Given the description of an element on the screen output the (x, y) to click on. 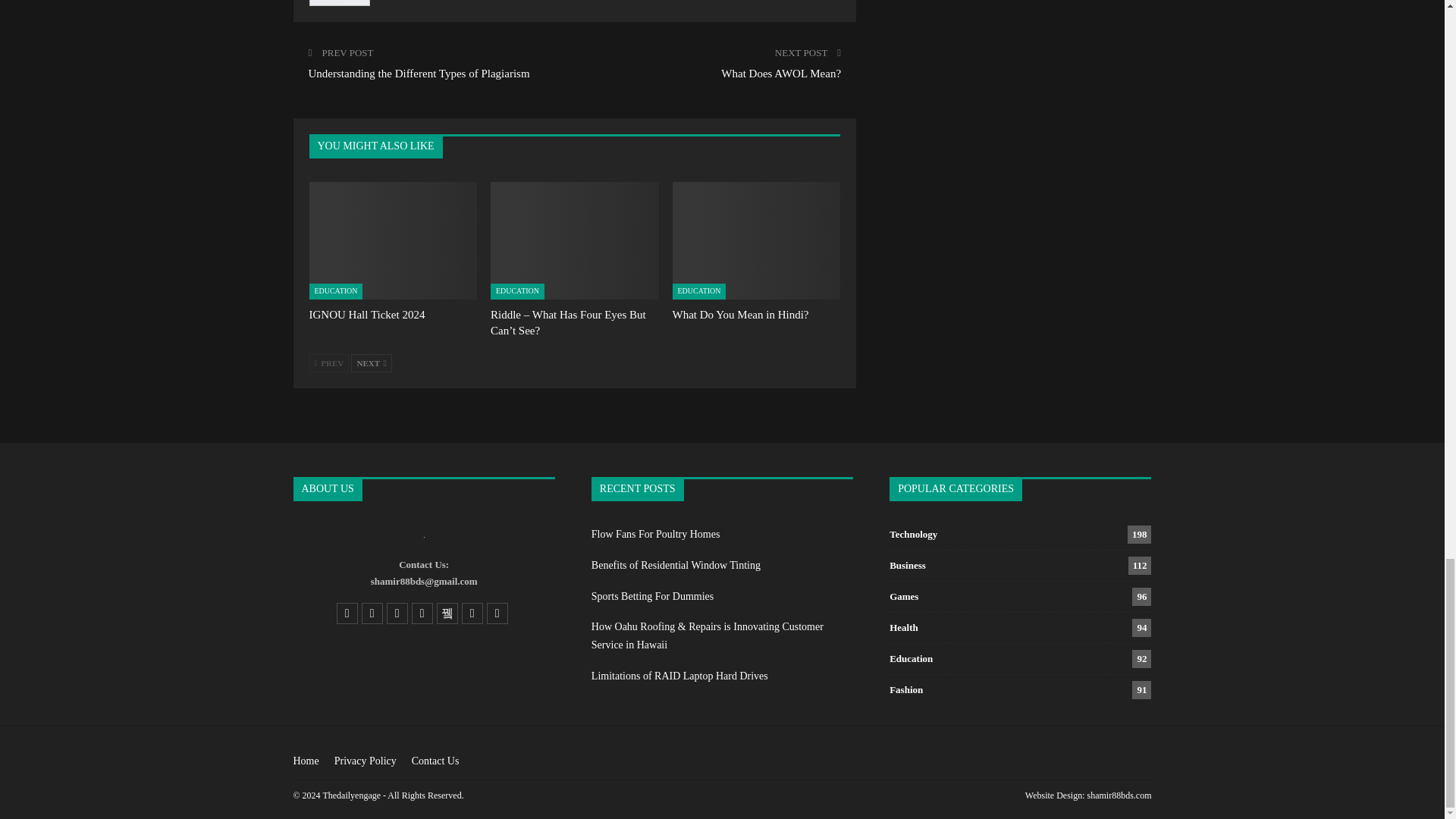
Next (370, 362)
IGNOU Hall Ticket 2024 (392, 240)
IGNOU Hall Ticket 2024 (366, 314)
What Do You Mean in Hindi? (756, 240)
Previous (328, 362)
What Do You Mean in Hindi? (740, 314)
